Given the description of an element on the screen output the (x, y) to click on. 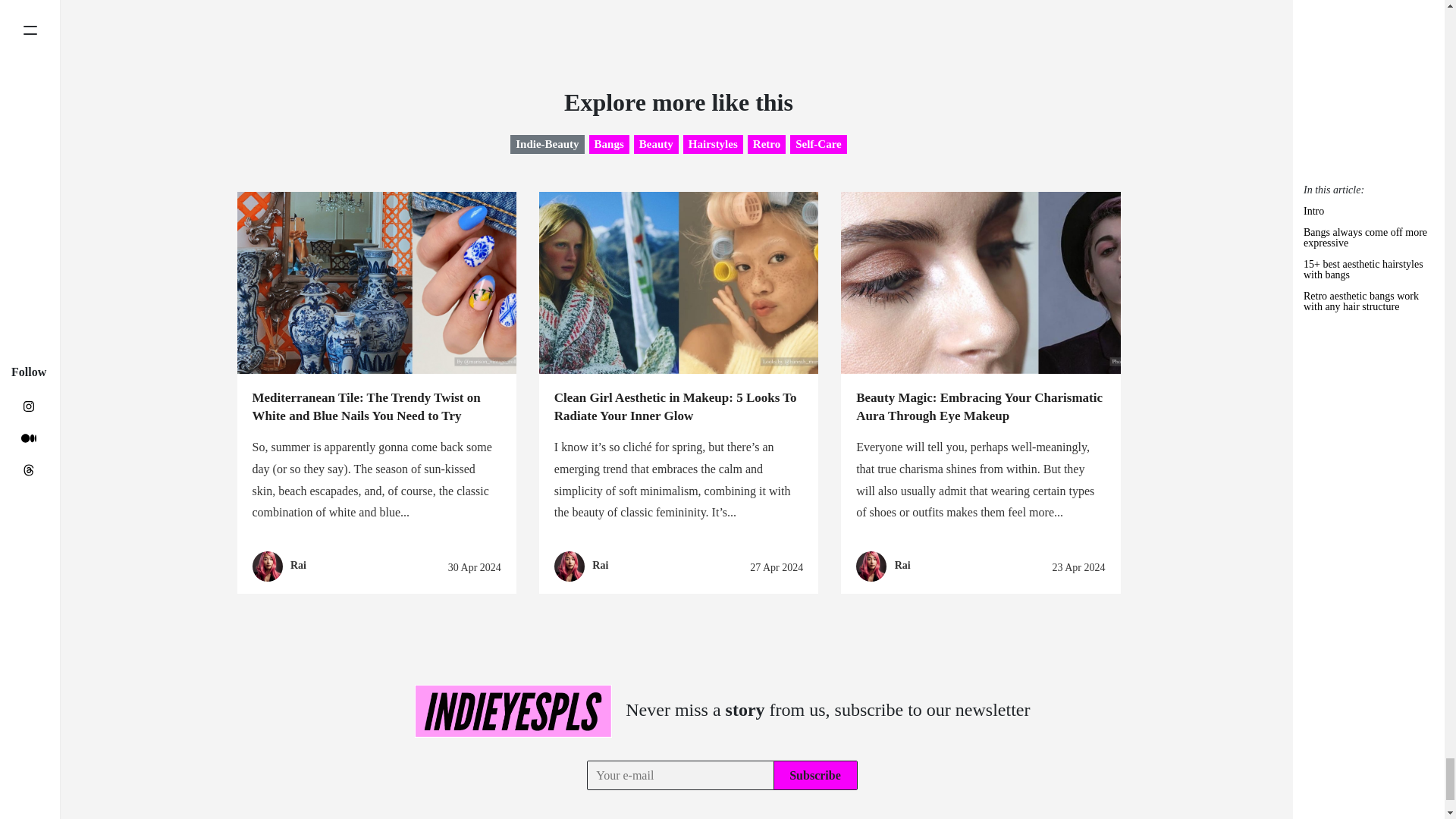
Bangs (608, 144)
Subscribe (815, 775)
Beauty (655, 144)
Retro (767, 144)
Retro (767, 144)
Rai (297, 564)
Self-Care (818, 144)
Bangs (608, 144)
Hairstyles (712, 144)
Hairstyles (712, 144)
Rai (903, 564)
Self-Care (818, 144)
Indie-Beauty (547, 144)
